Given the description of an element on the screen output the (x, y) to click on. 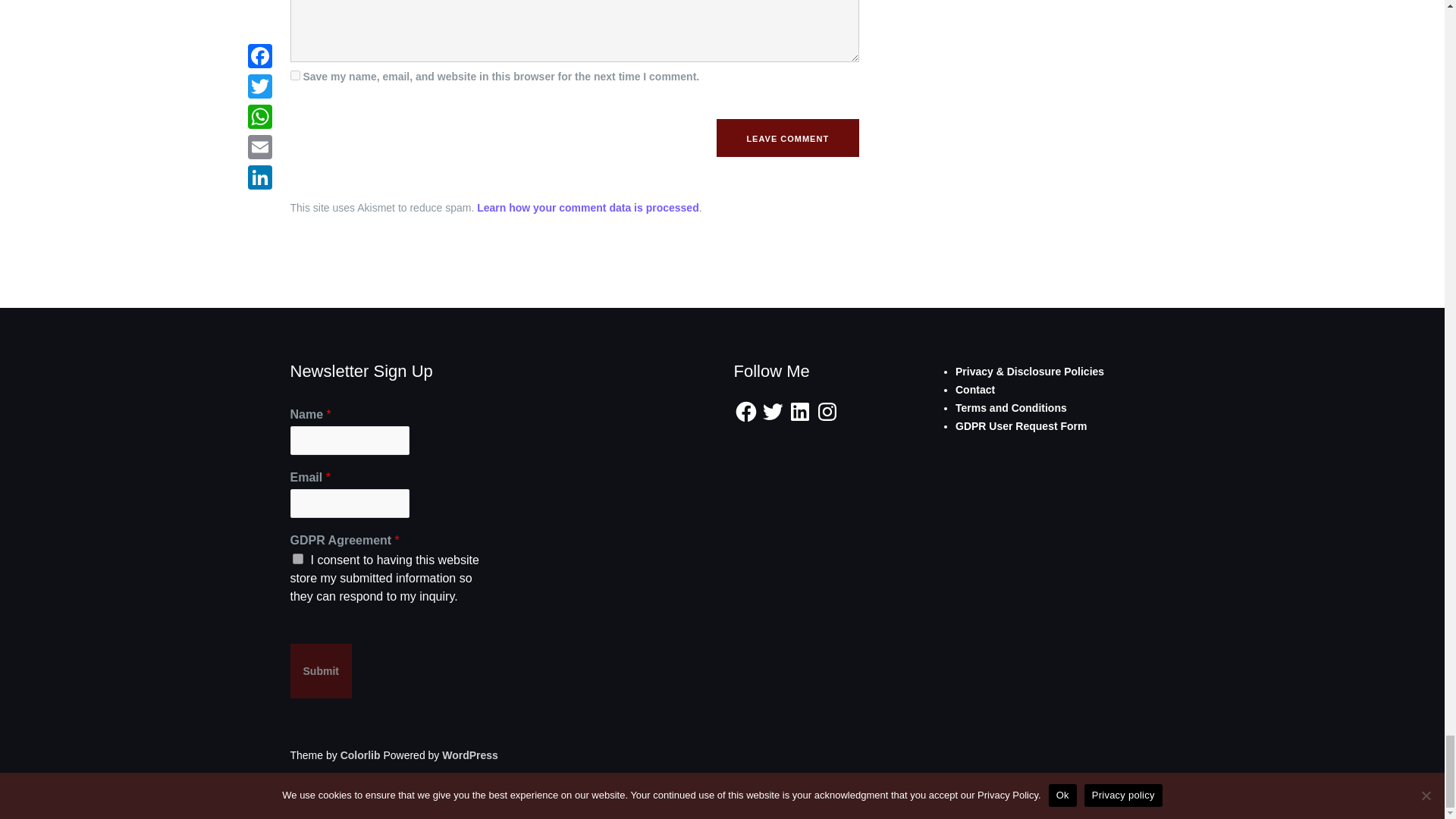
Leave Comment (787, 137)
yes (294, 75)
